Given the description of an element on the screen output the (x, y) to click on. 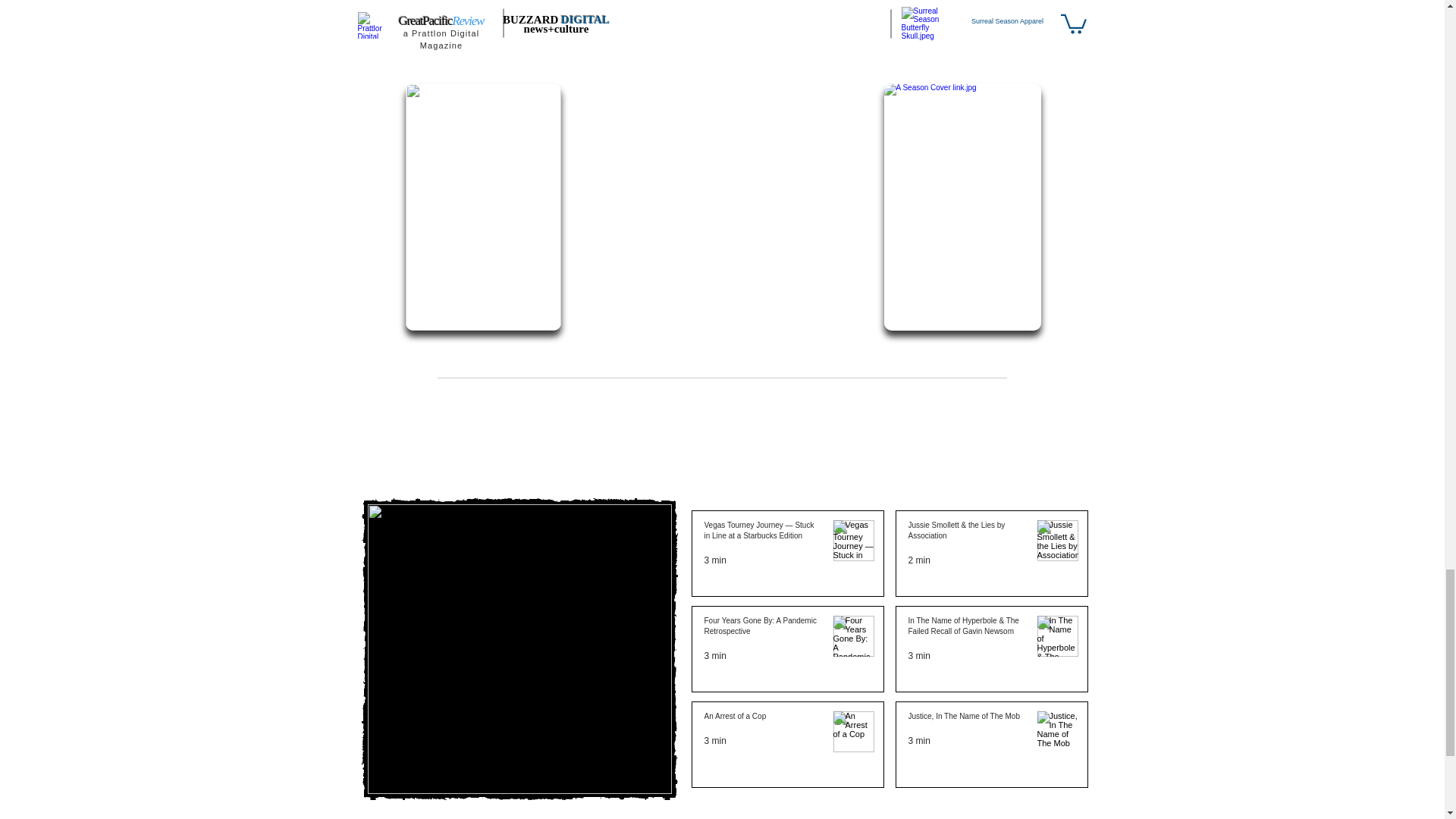
3 min (919, 655)
3 min (714, 560)
3 min (714, 740)
3 min (919, 740)
3 min (714, 655)
2 min (919, 560)
